Given the description of an element on the screen output the (x, y) to click on. 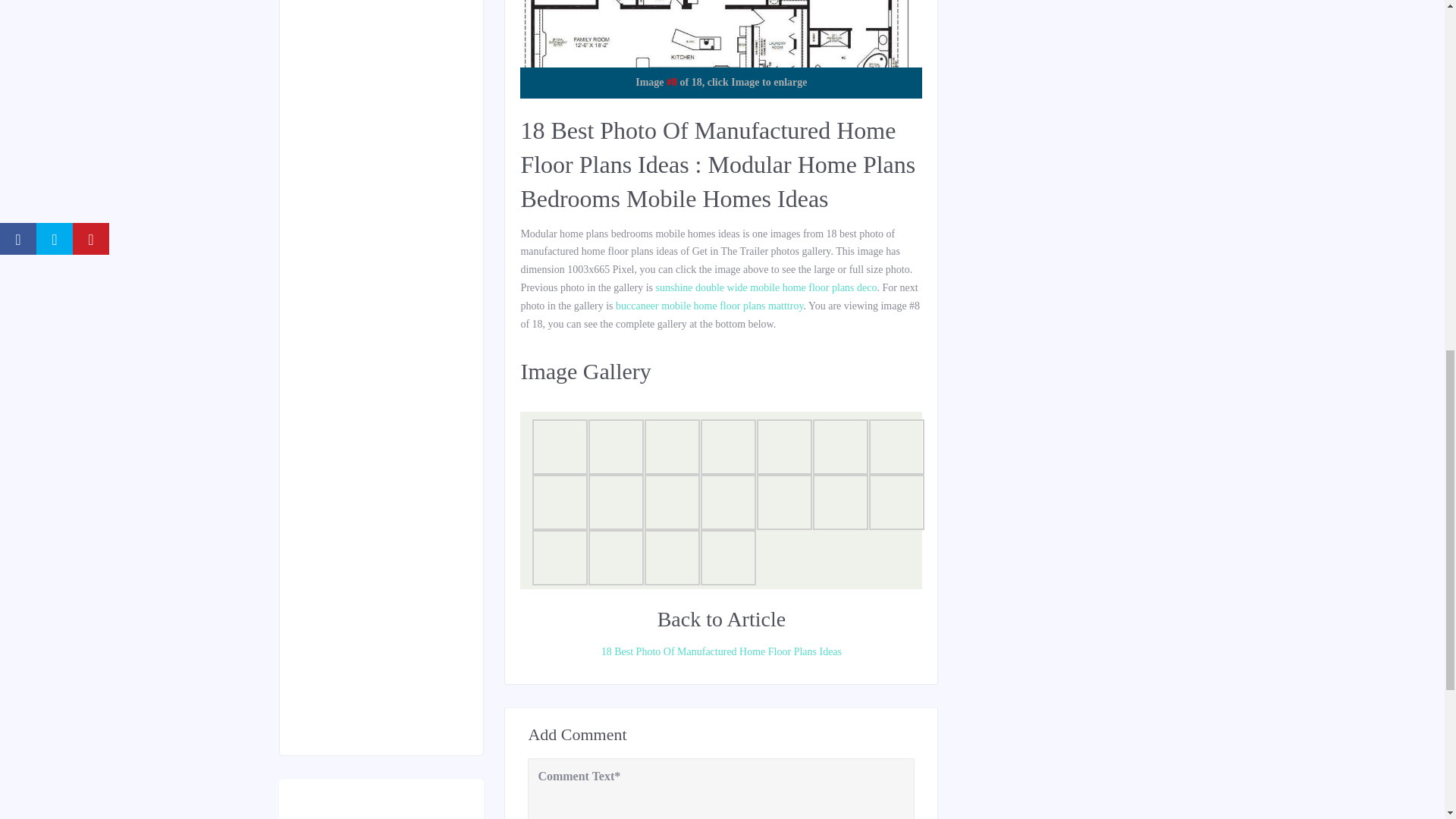
sunshine double wide mobile home floor plans deco (765, 287)
18 Best Photo Of Manufactured Home Floor Plans Ideas (720, 651)
buccaneer mobile home floor plans matttroy (709, 306)
